Given the description of an element on the screen output the (x, y) to click on. 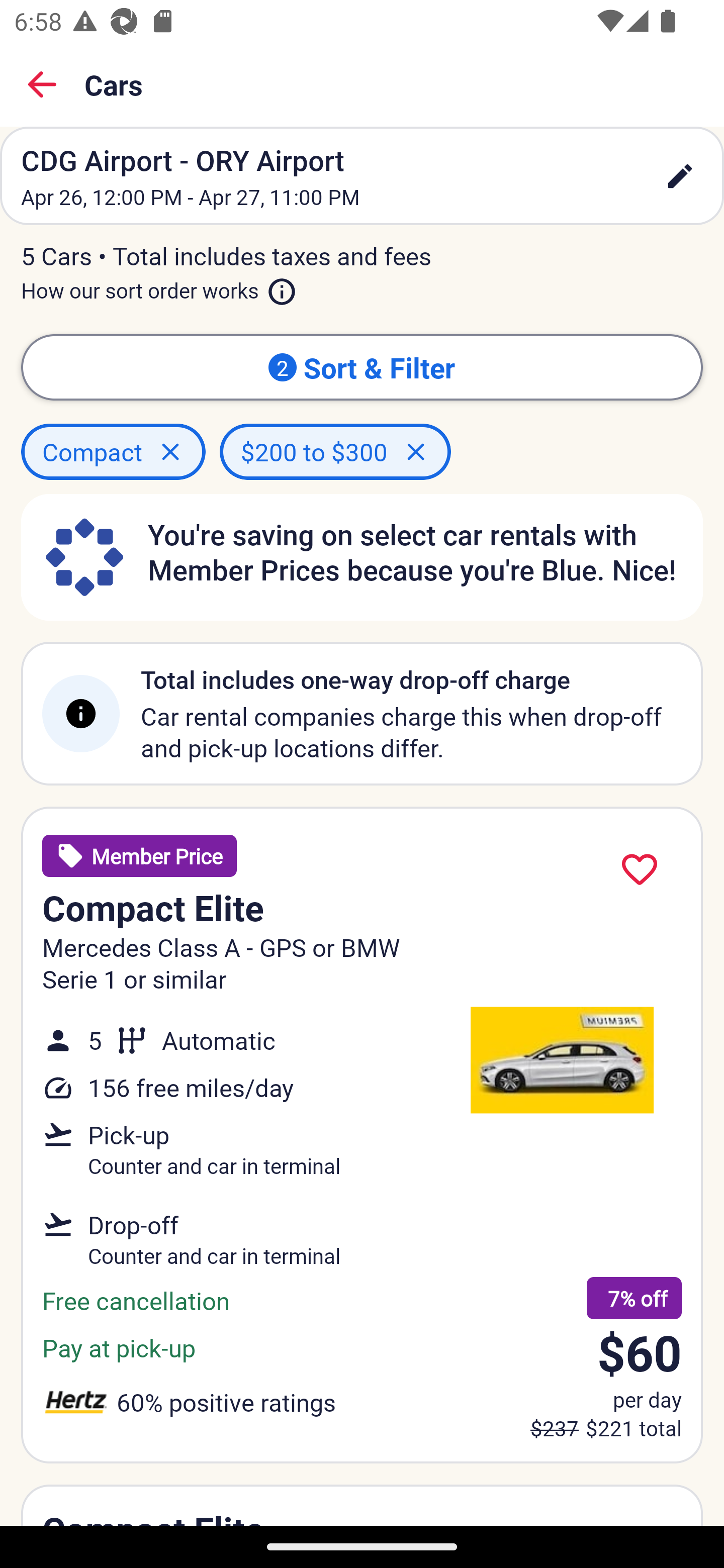
Back (42, 84)
edit (679, 175)
How our sort order works (158, 286)
2 Sort & Filter (361, 366)
